Given the description of an element on the screen output the (x, y) to click on. 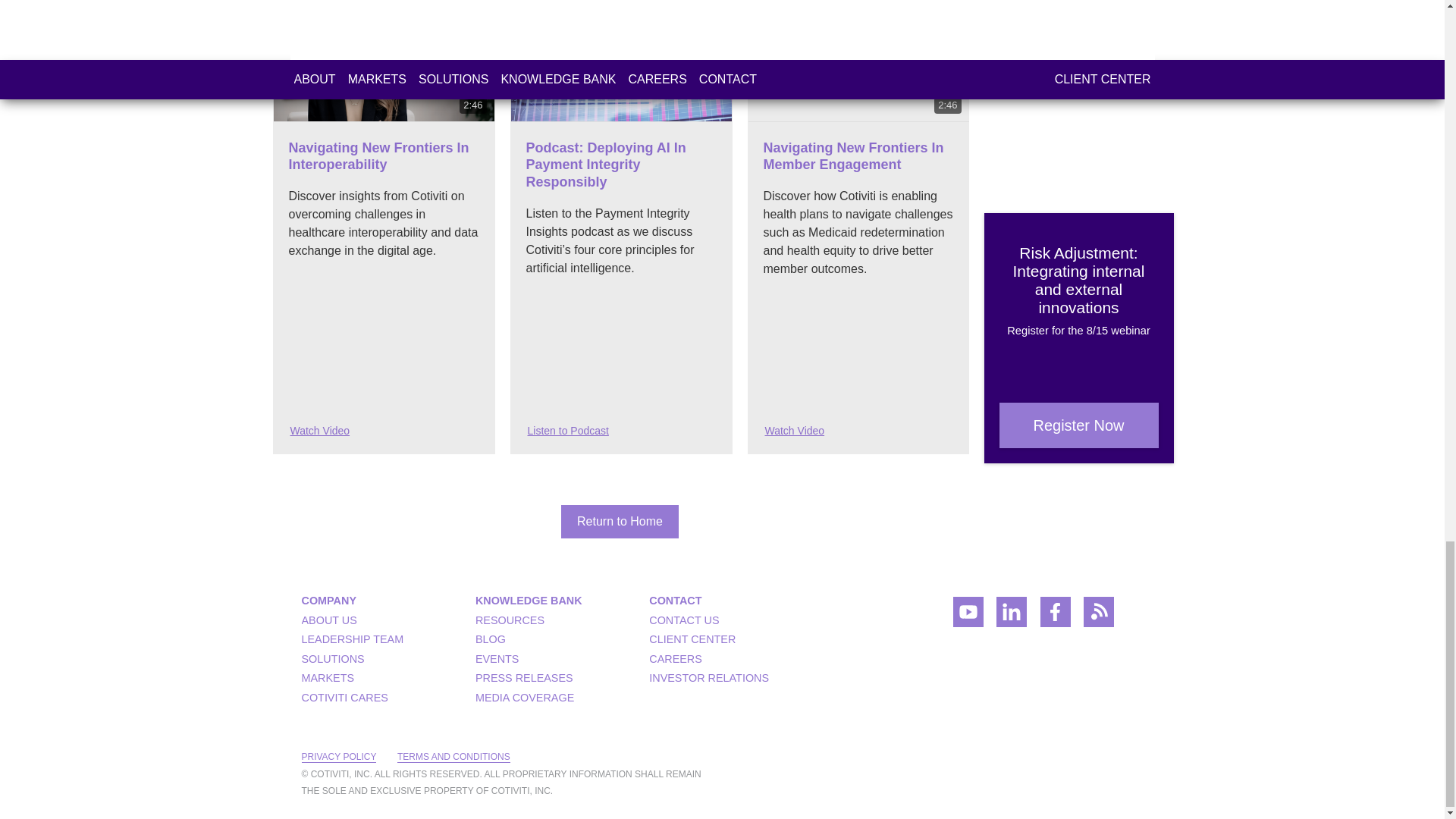
YouTube (968, 616)
LinkedIn (1010, 616)
Facebook (1055, 616)
